Given the description of an element on the screen output the (x, y) to click on. 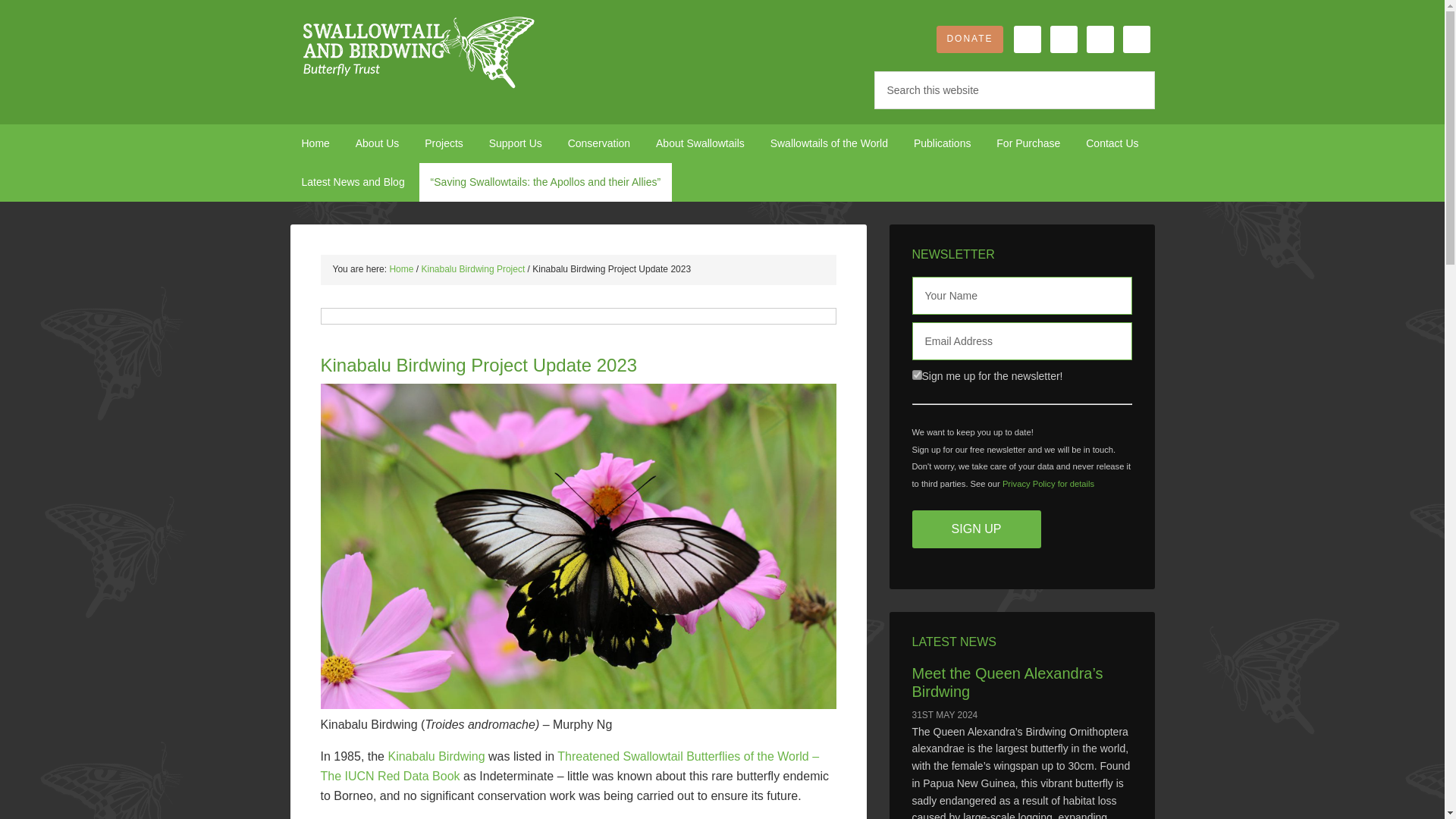
Sign Up (976, 528)
Home (314, 143)
SBBT (418, 52)
1 (916, 375)
Projects (443, 143)
About Us (376, 143)
DONATE (969, 39)
